Given the description of an element on the screen output the (x, y) to click on. 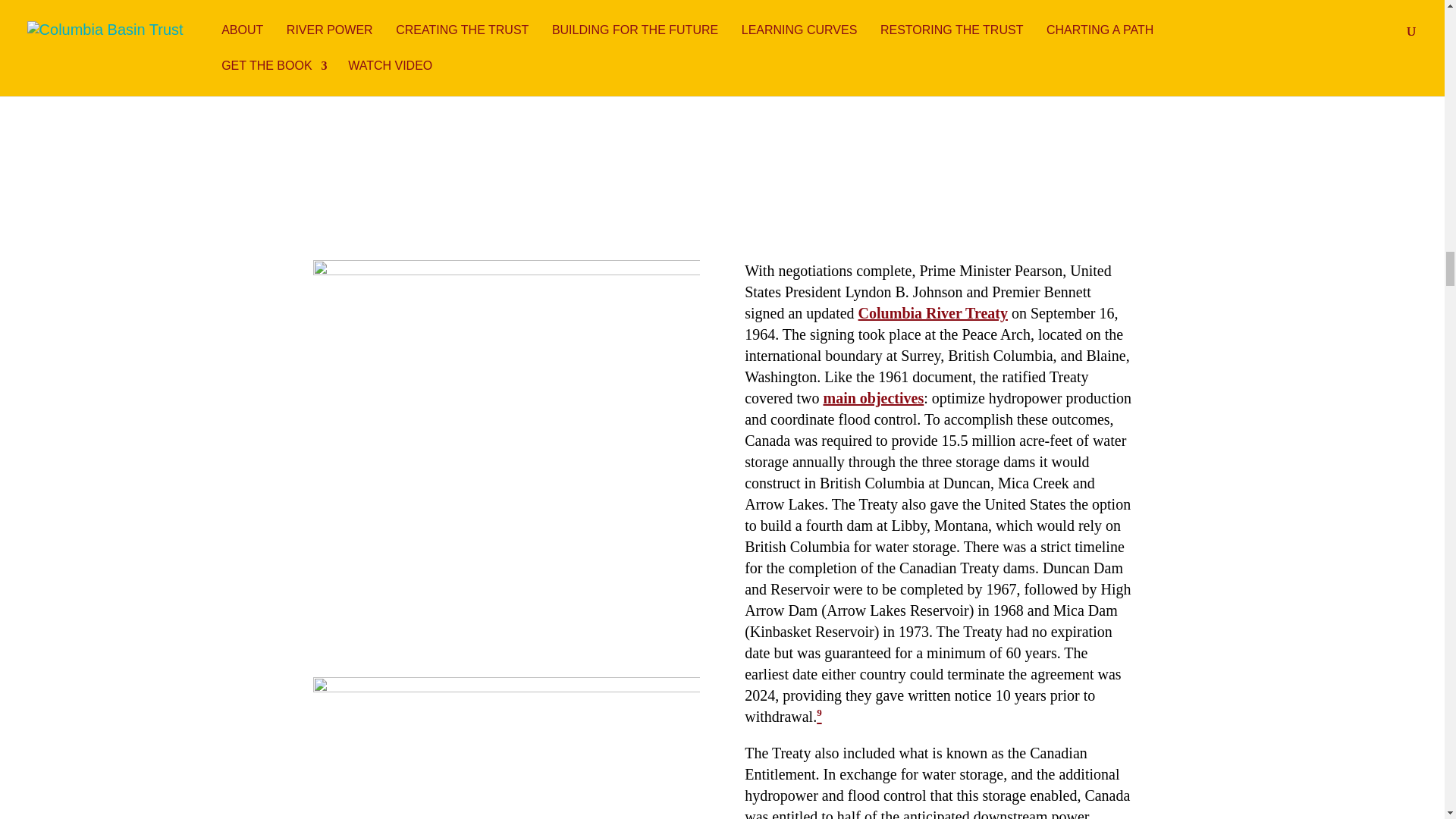
Columbia River Treaty (933, 312)
p23-A (1009, 59)
main objectives (872, 397)
